Given the description of an element on the screen output the (x, y) to click on. 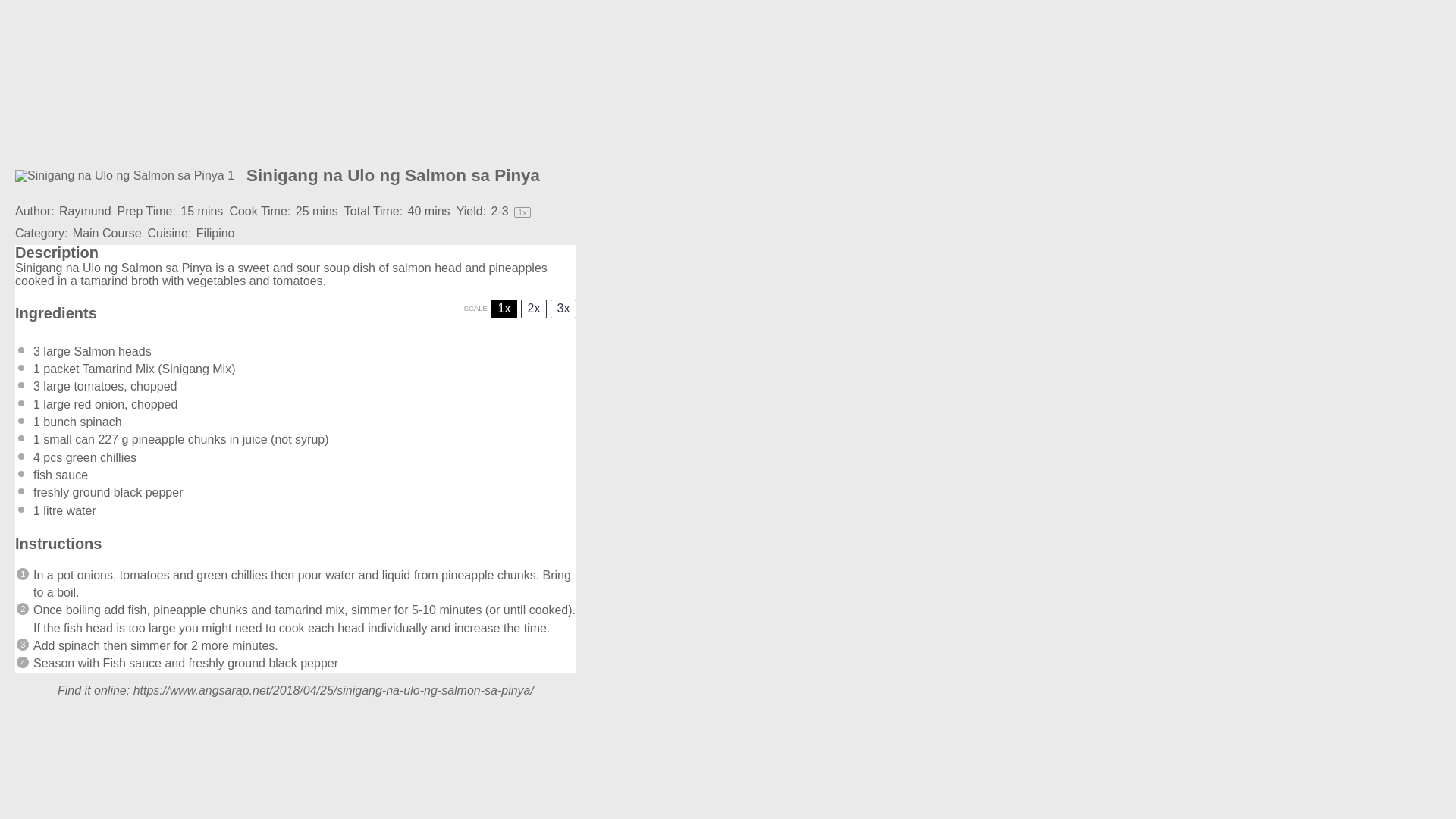
3x (563, 308)
pineapple chunks in juice (199, 439)
1x (504, 308)
2x (534, 308)
Tamarind Mix (118, 368)
